Given the description of an element on the screen output the (x, y) to click on. 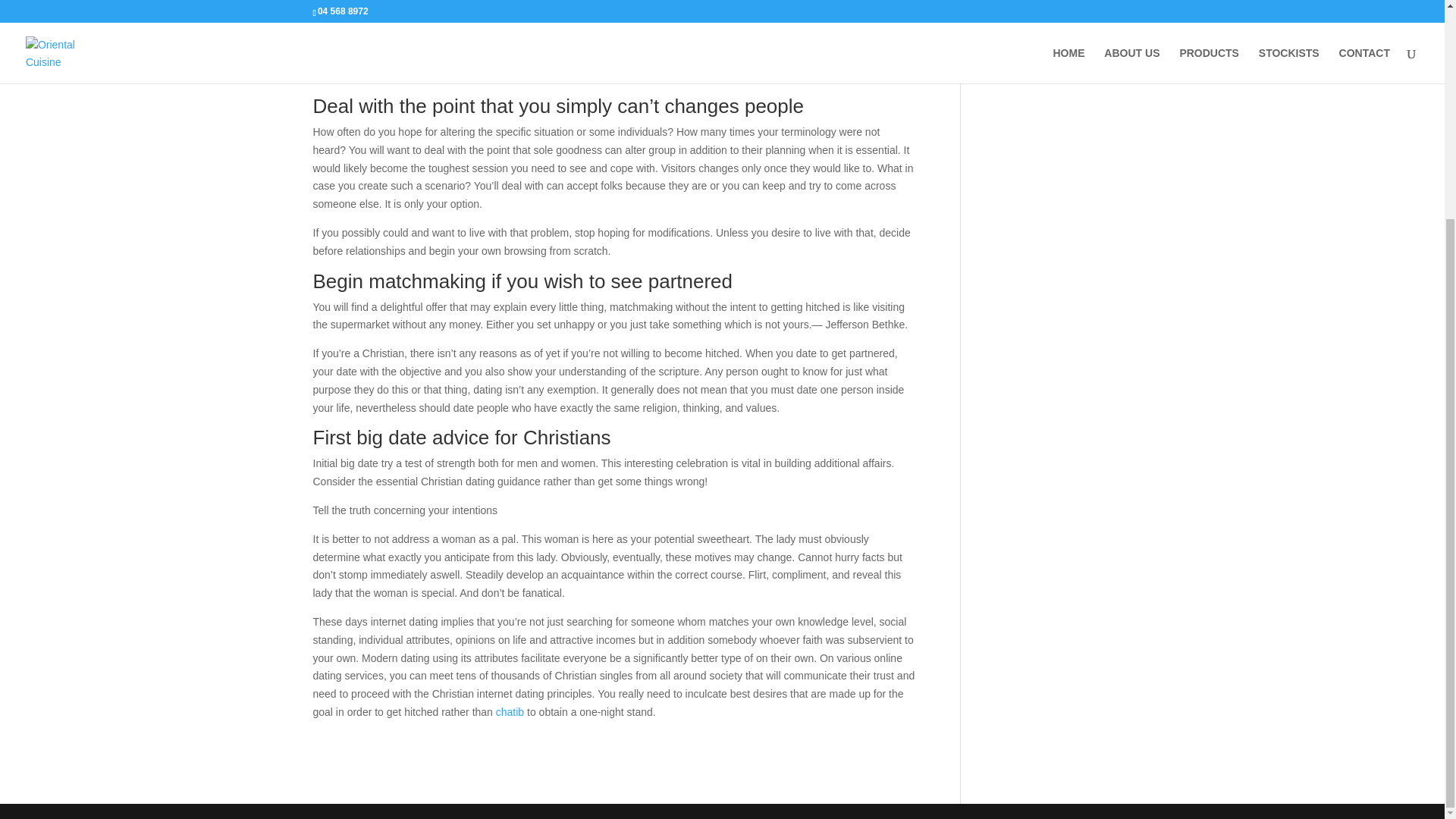
chatib (510, 711)
